Given the description of an element on the screen output the (x, y) to click on. 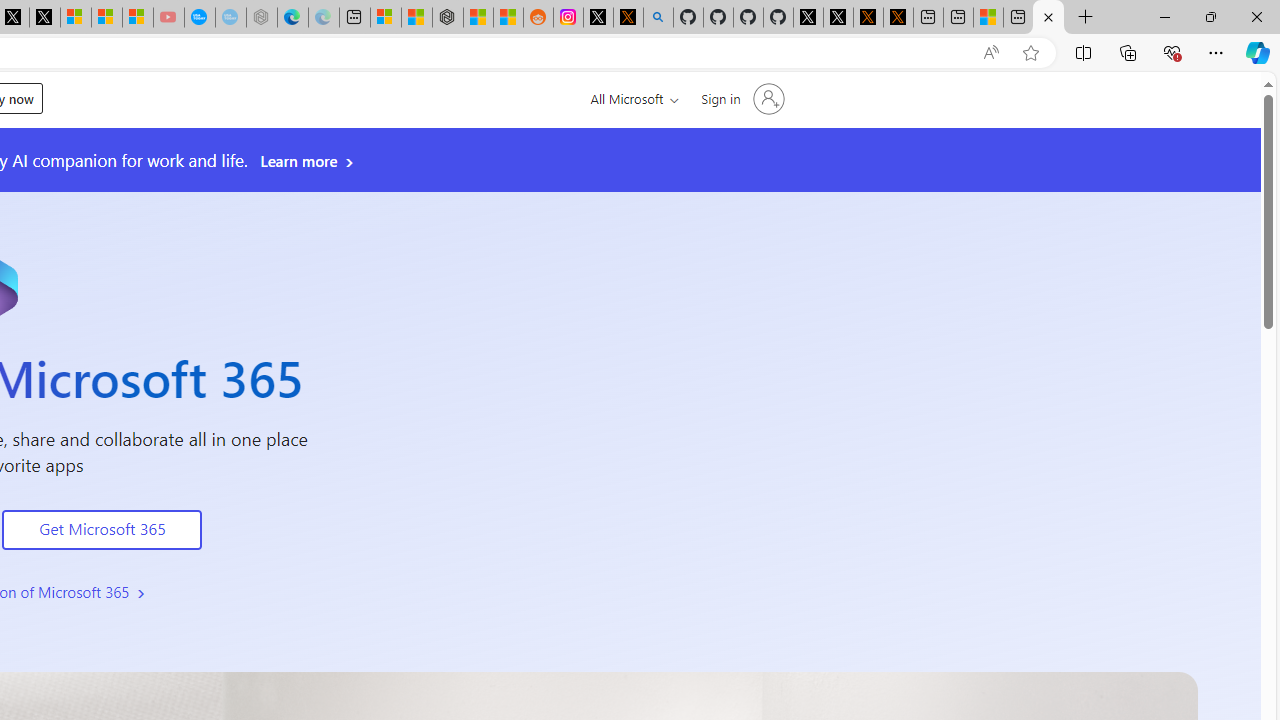
X (44, 17)
GitHub (@github) / X (838, 17)
Log in to X / X (598, 17)
Shanghai, China Weather trends | Microsoft Weather (508, 17)
X Privacy Policy (898, 17)
Gloom - YouTube - Sleeping (168, 17)
